Given the description of an element on the screen output the (x, y) to click on. 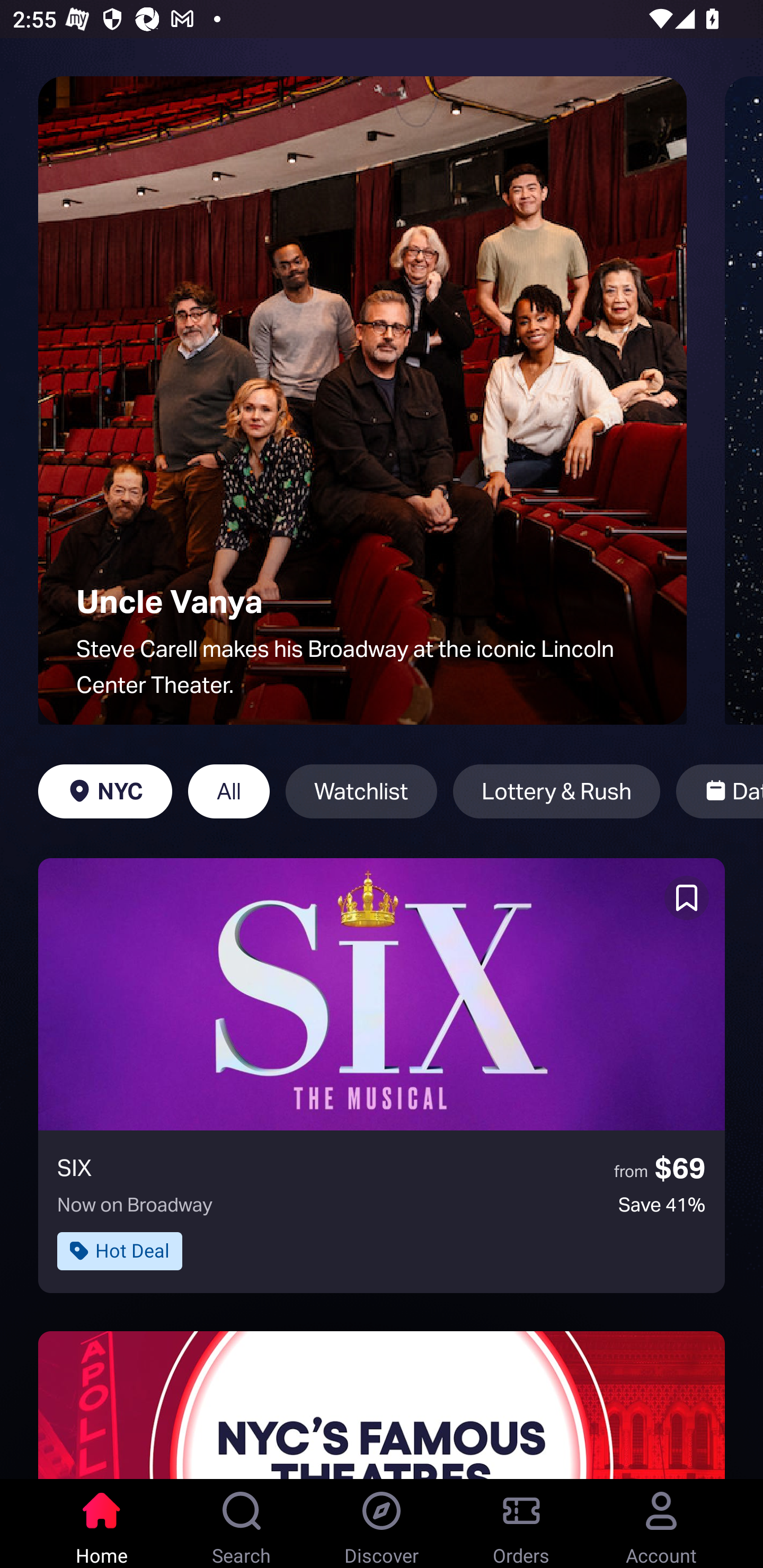
NYC (105, 791)
All (228, 791)
Watchlist (361, 791)
Lottery & Rush (556, 791)
Date (719, 791)
SIX from $69 Now on Broadway Save 41% Hot Deal (381, 1075)
Search (241, 1523)
Discover (381, 1523)
Orders (521, 1523)
Account (660, 1523)
